Given the description of an element on the screen output the (x, y) to click on. 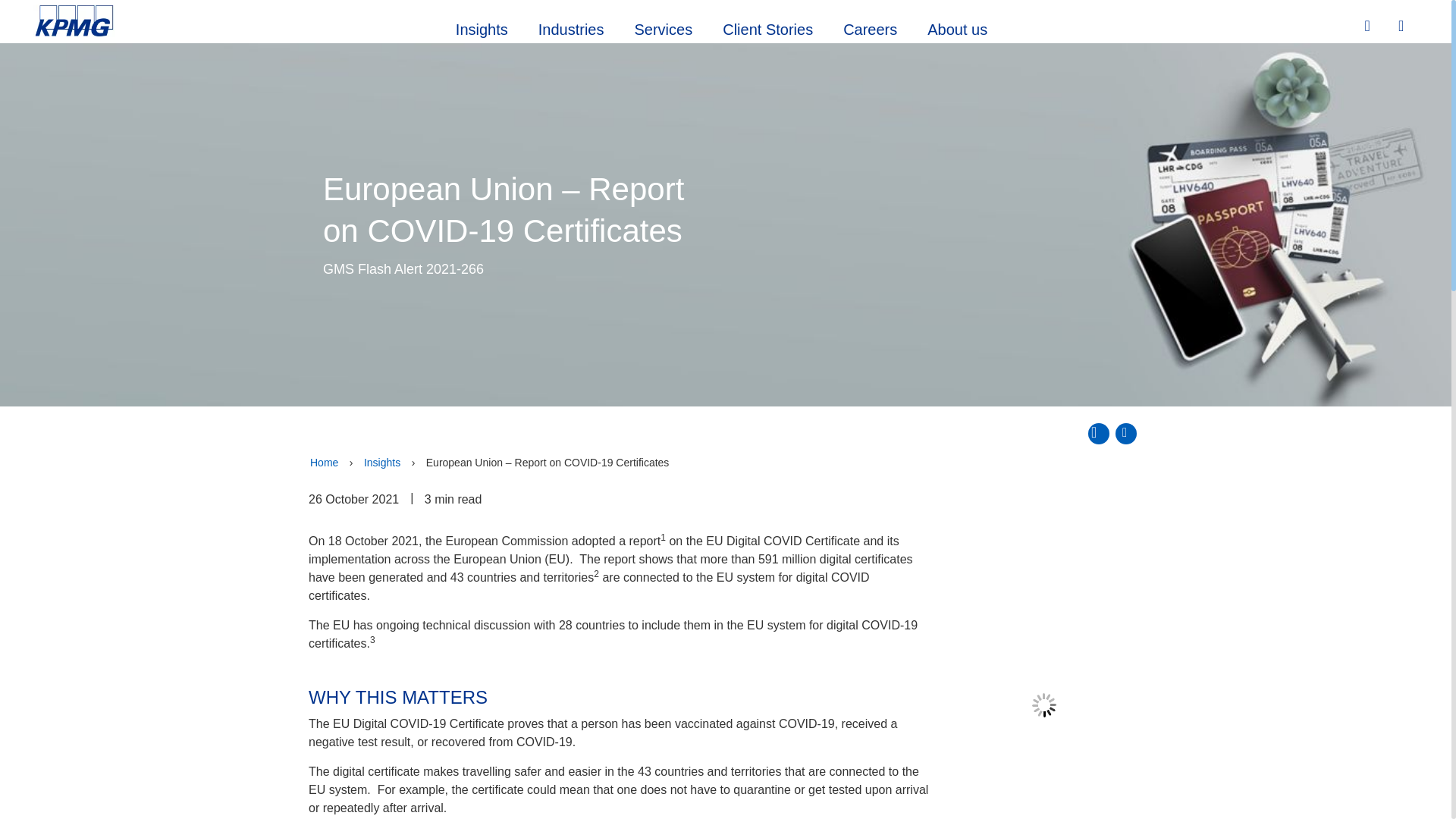
Industries (571, 27)
Go to bottom of page (1126, 433)
Site Selector (1402, 26)
Search (1369, 26)
Insights (481, 27)
Home (323, 462)
Services (662, 27)
Careers (870, 27)
Client Stories (767, 27)
Insights (381, 462)
